Given the description of an element on the screen output the (x, y) to click on. 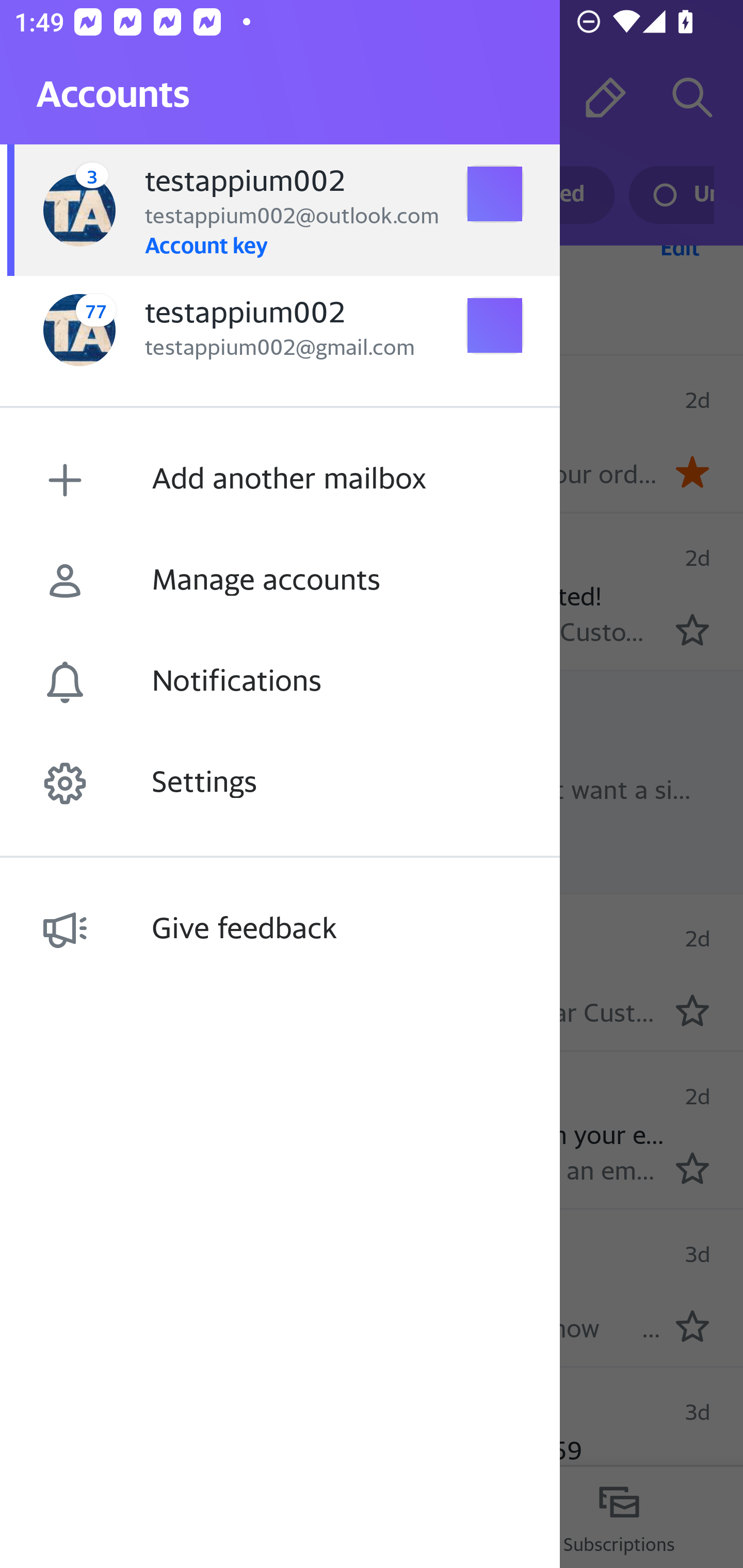
Account key (205, 244)
Add another mailbox (279, 479)
Manage accounts (279, 580)
Profile
IKEA Hong Kong (64, 589)
Notifications (279, 681)
Settings (279, 783)
Give feedback (279, 929)
